Given the description of an element on the screen output the (x, y) to click on. 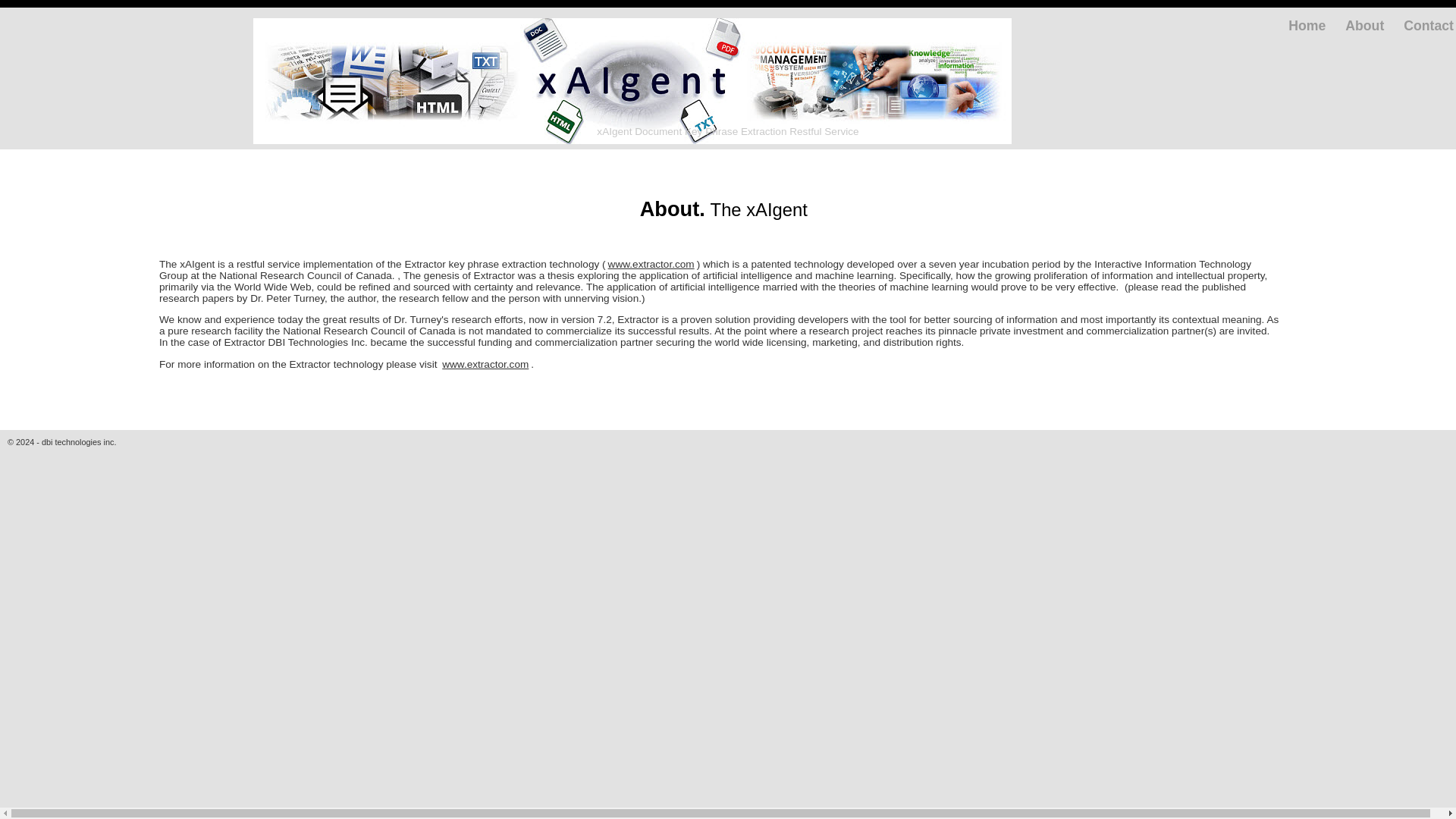
Home (1306, 25)
Contact (1428, 25)
www.extractor.com (485, 364)
www.extractor.com (651, 264)
About (1364, 25)
xAIgent Document Key Phrase Extraction Restful Service (727, 131)
